Given the description of an element on the screen output the (x, y) to click on. 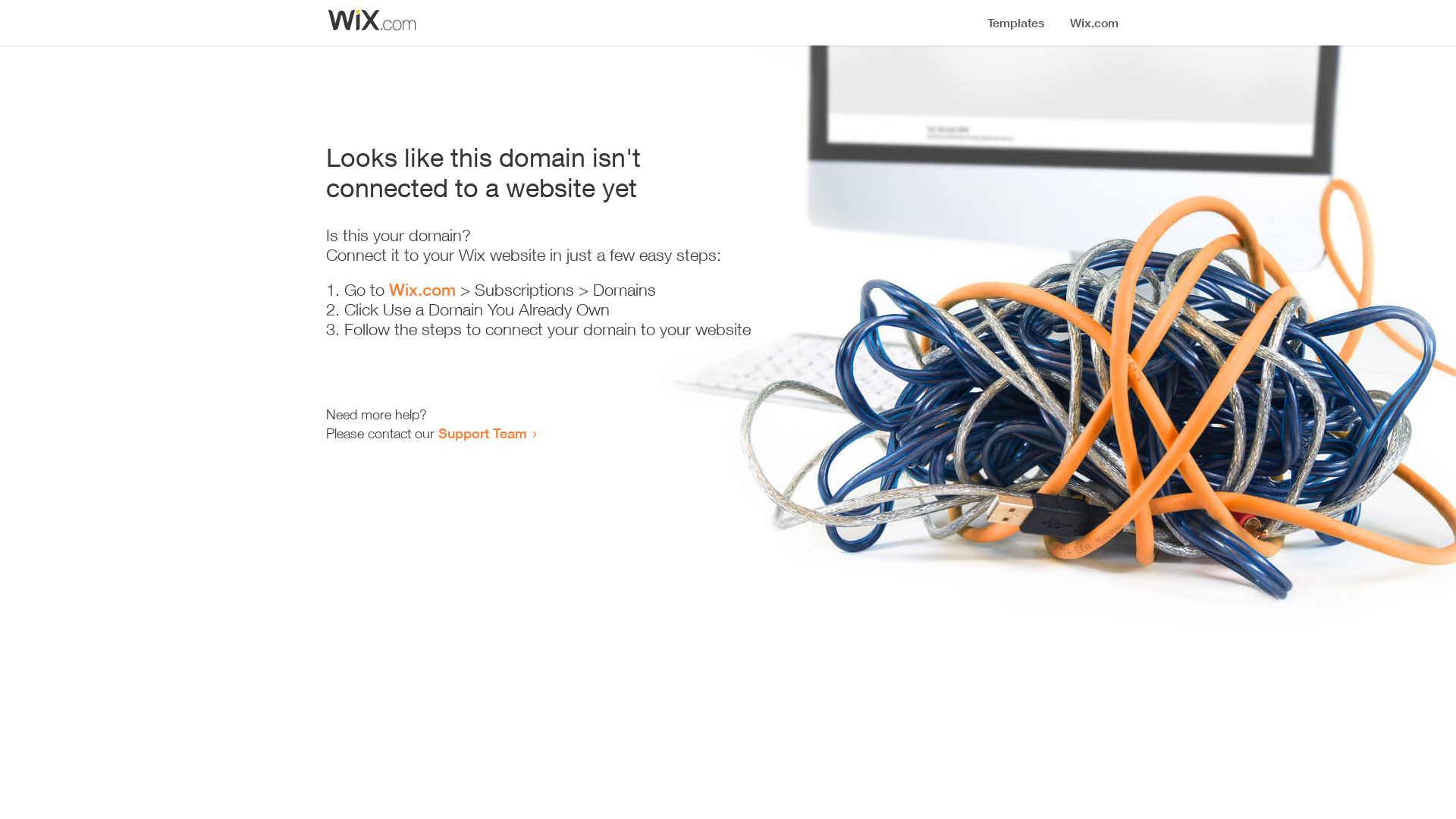
Wix.com Element type: text (422, 289)
Support Team Element type: text (482, 432)
